Given the description of an element on the screen output the (x, y) to click on. 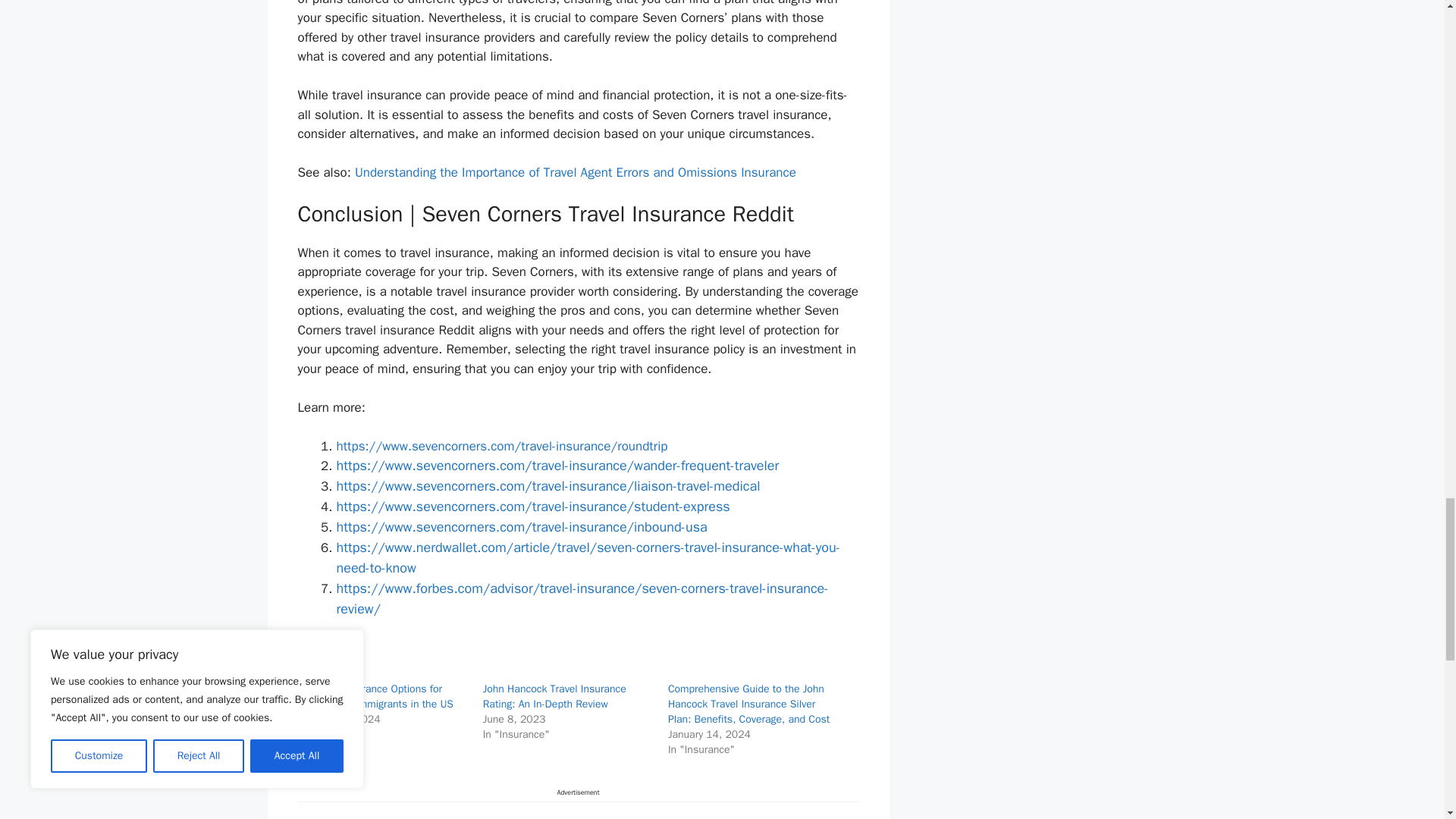
John Hancock Travel Insurance Rating: An In-Depth Review (554, 696)
John Hancock Travel Insurance Rating: An In-Depth Review (554, 696)
